Given the description of an element on the screen output the (x, y) to click on. 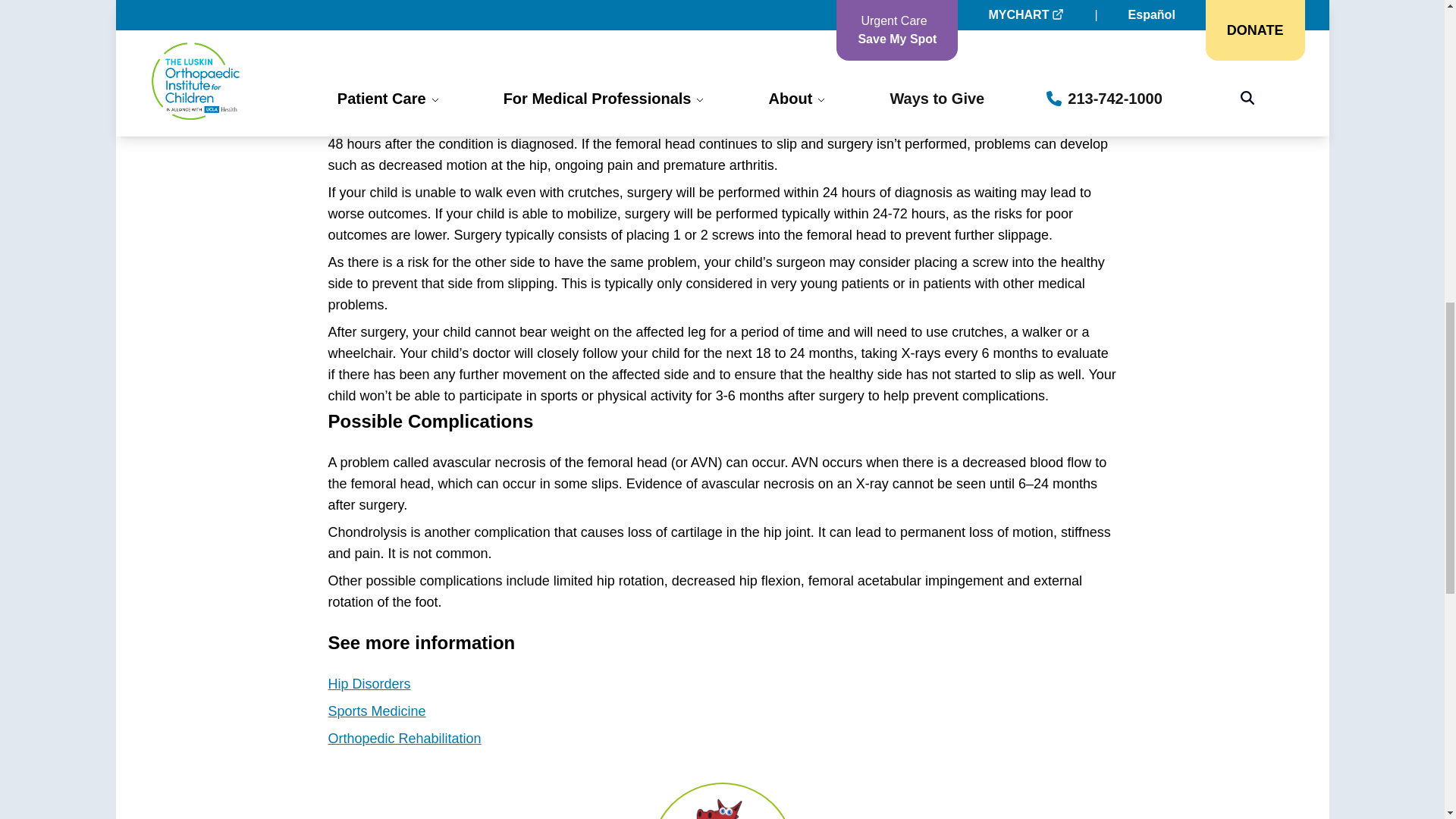
Sports Medicine (376, 711)
Orthopedic Rehabilitation (403, 738)
Hip Disorders (368, 683)
